Given the description of an element on the screen output the (x, y) to click on. 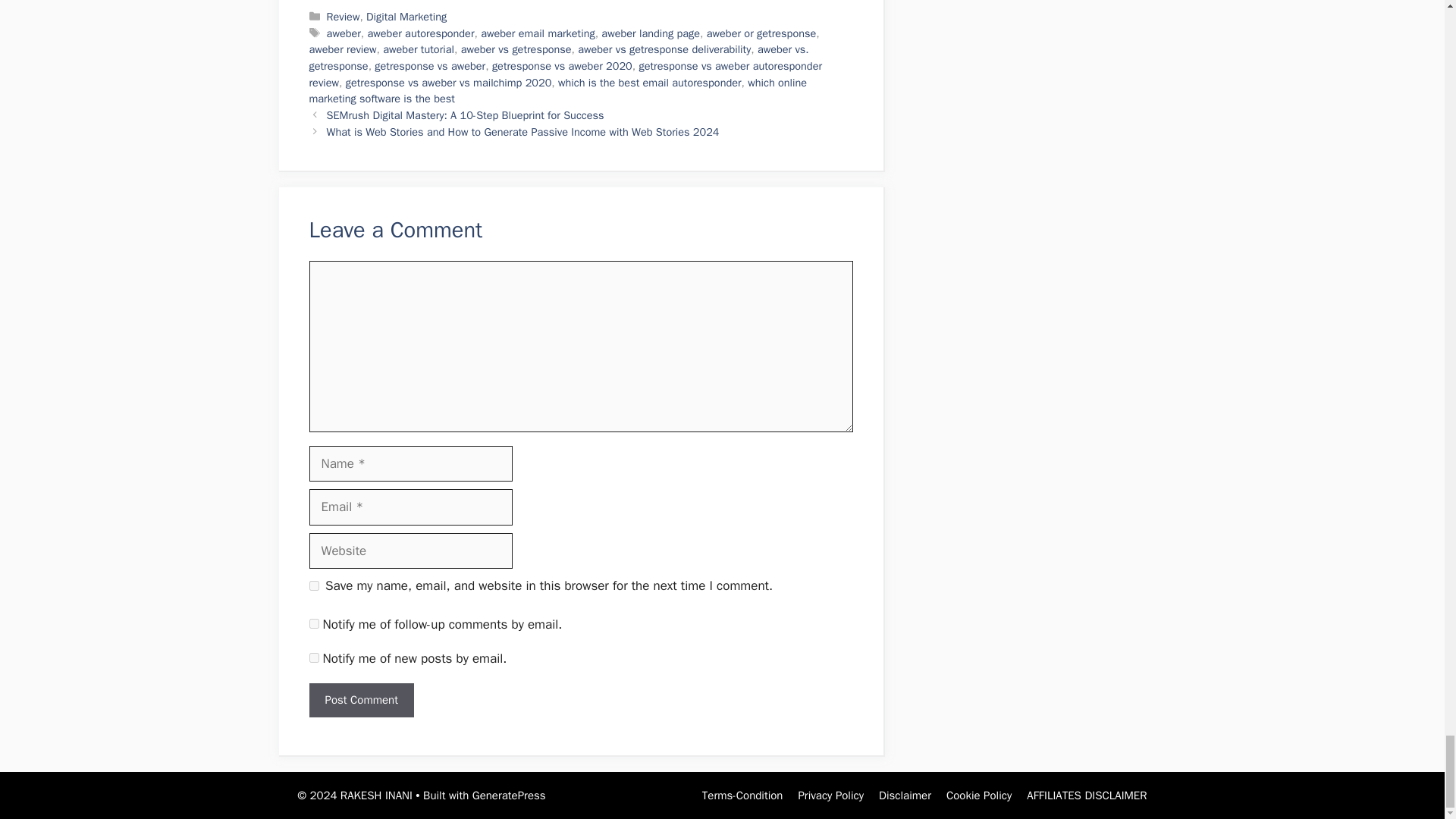
subscribe (313, 623)
aweber email marketing (537, 33)
subscribe (313, 657)
aweber vs getresponse (516, 49)
aweber review (342, 49)
Digital Marketing (406, 16)
Review (342, 16)
aweber tutorial (418, 49)
aweber or getresponse (760, 33)
aweber landing page (650, 33)
Post Comment (360, 700)
aweber autoresponder (421, 33)
yes (313, 585)
aweber (343, 33)
